Given the description of an element on the screen output the (x, y) to click on. 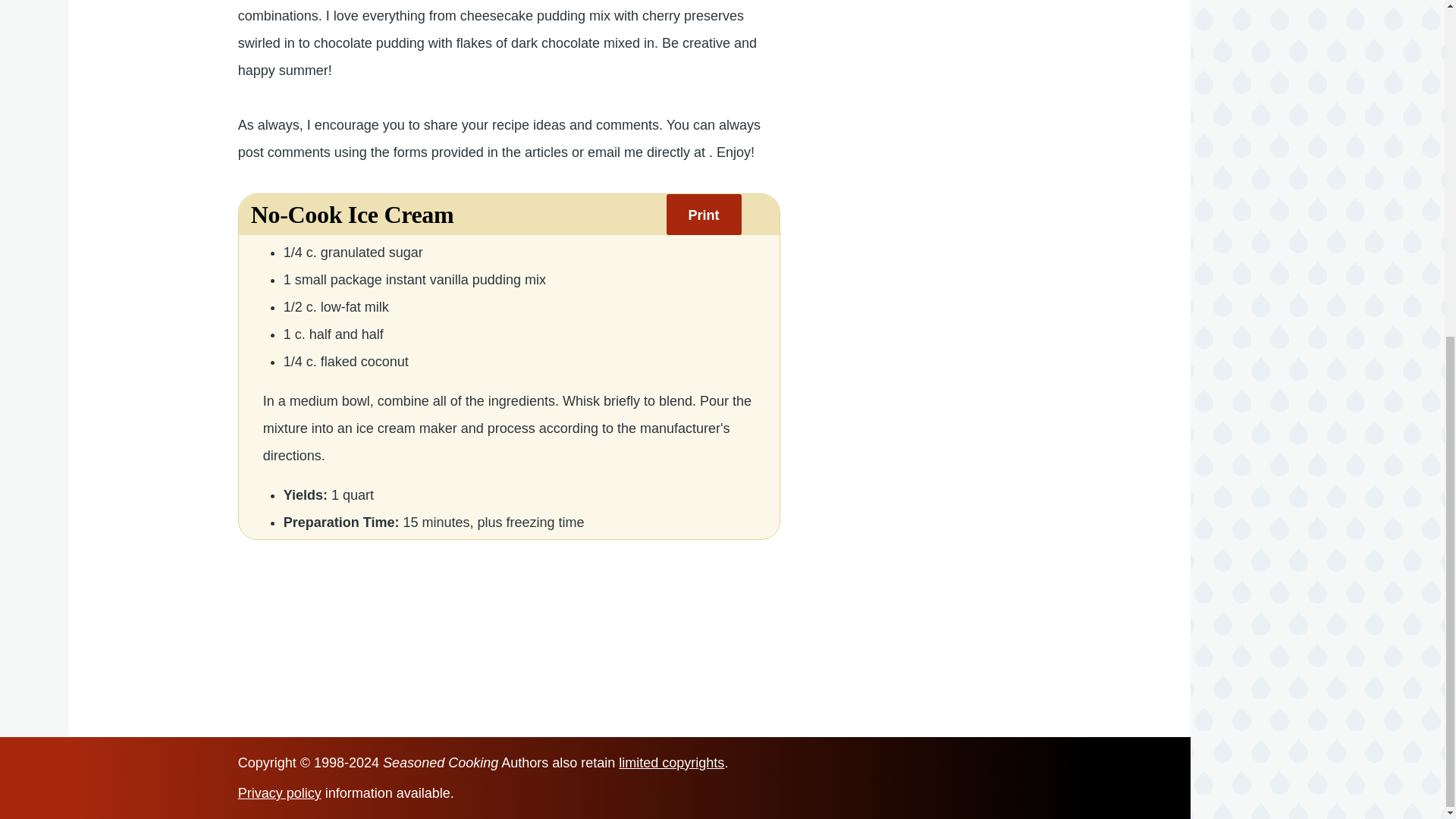
Print (703, 214)
No-Cook Ice Cream (352, 215)
Advertisement (970, 13)
limited copyrights (670, 762)
Privacy policy (279, 792)
